Given the description of an element on the screen output the (x, y) to click on. 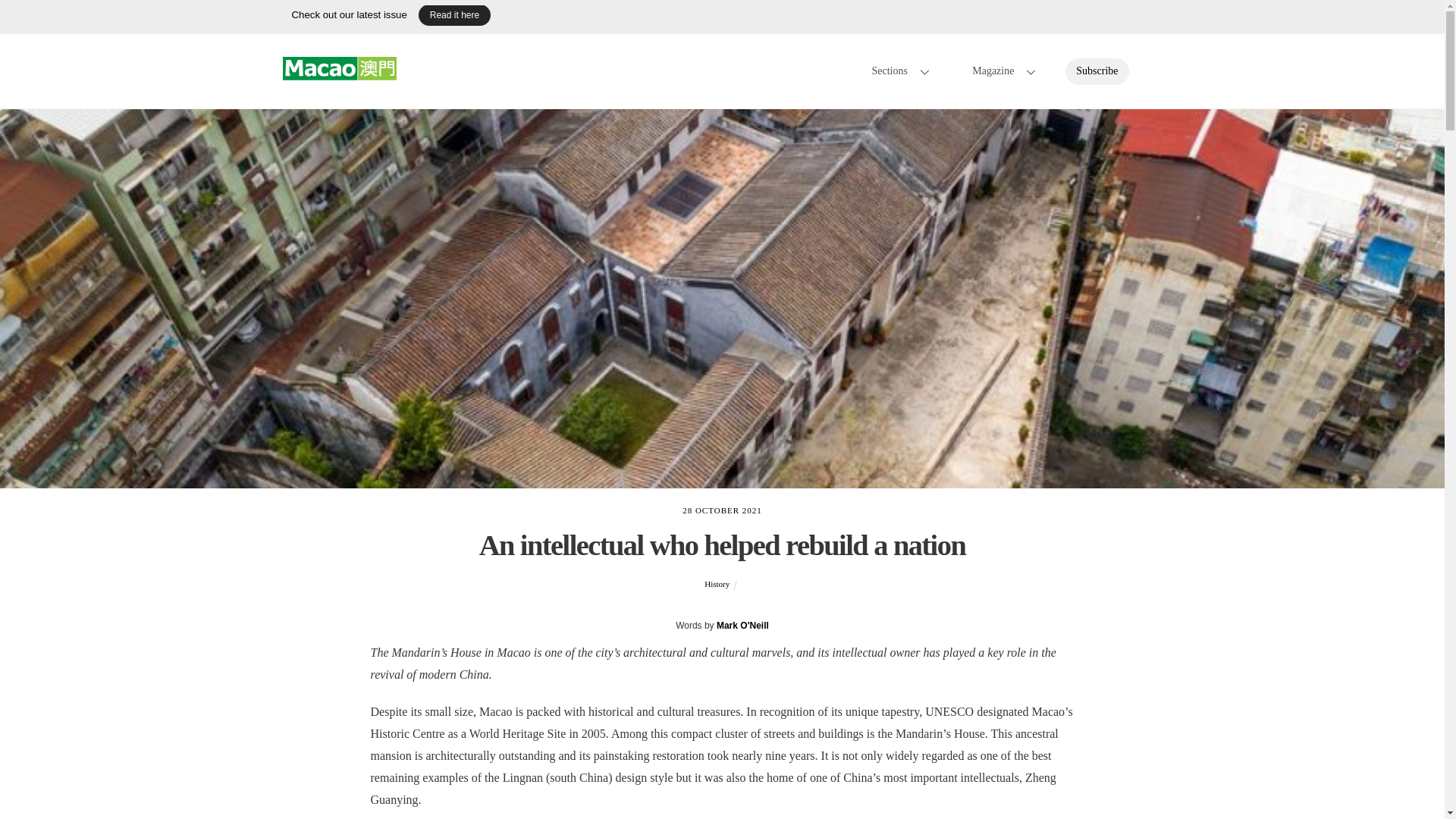
macaomagazine.net (785, 71)
Read it here (339, 73)
Subscribe (454, 14)
Search (1096, 71)
Mark O'Neill (1146, 70)
Magazine (742, 624)
Sections (1000, 71)
MmagLogo (721, 16)
